Given the description of an element on the screen output the (x, y) to click on. 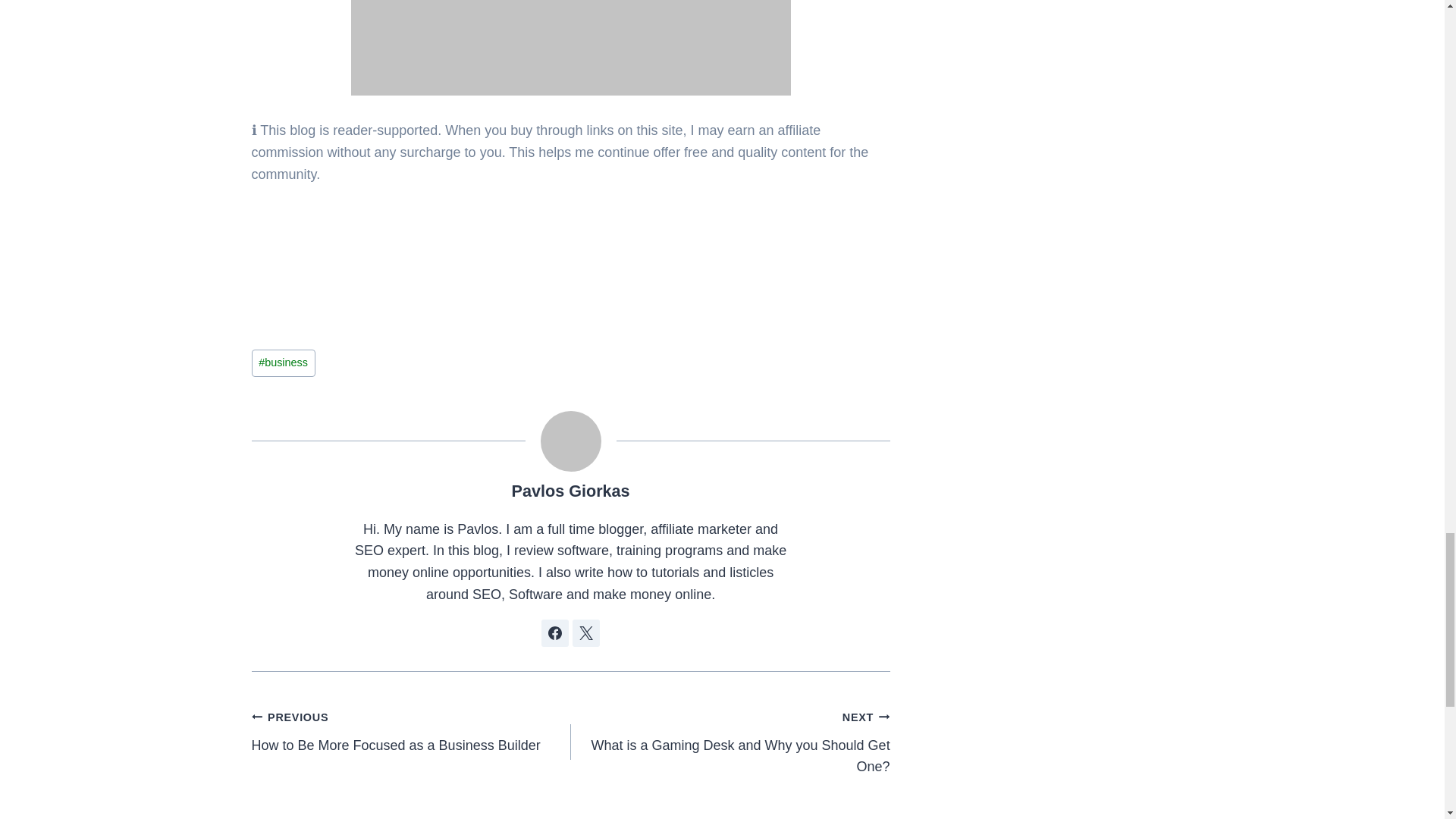
business (283, 362)
Pavlos Giorkas (571, 490)
Follow Pavlos Giorkas on X formerly Twitter (729, 741)
Follow Pavlos Giorkas on Facebook (585, 633)
Posts by Pavlos Giorkas (410, 730)
